Given the description of an element on the screen output the (x, y) to click on. 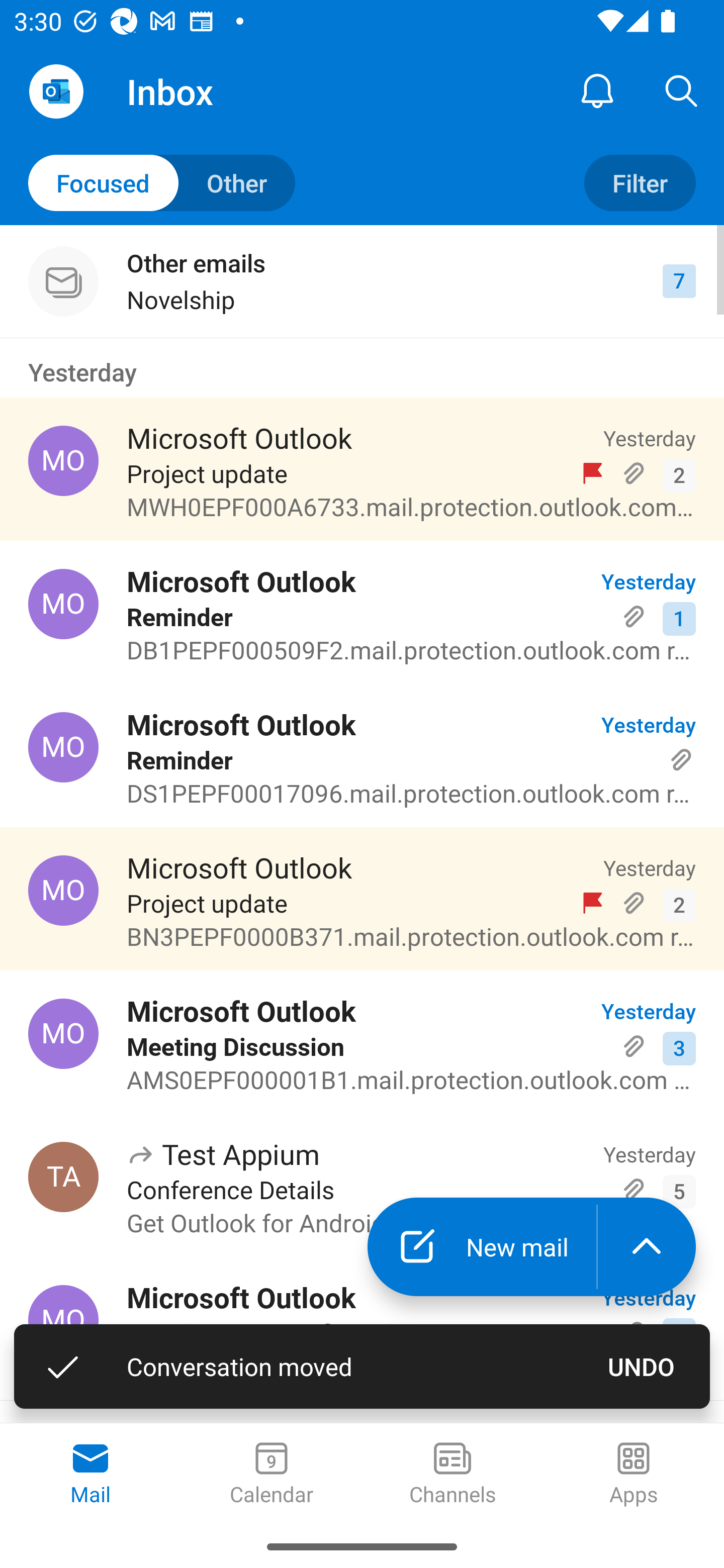
Notification Center (597, 90)
Search, ,  (681, 90)
Open Navigation Drawer (55, 91)
Toggle to other mails (161, 183)
Filter (639, 183)
Other emails Novelship 7 (362, 281)
Test Appium, testappium002@outlook.com (63, 1176)
New mail (481, 1246)
launch the extended action menu (646, 1246)
UNDO (641, 1366)
Calendar (271, 1474)
Channels (452, 1474)
Apps (633, 1474)
